Given the description of an element on the screen output the (x, y) to click on. 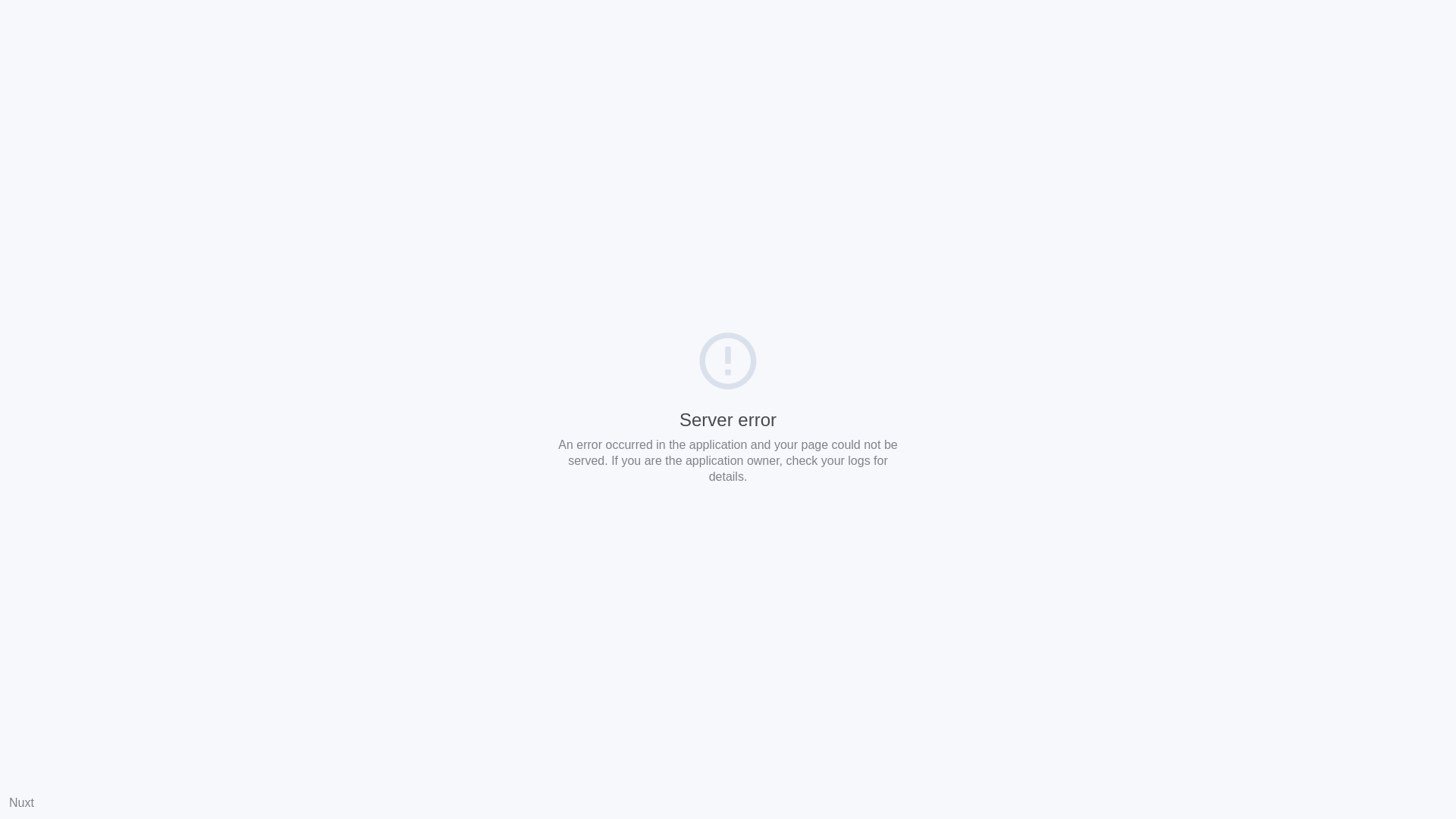
Nuxt Element type: text (21, 802)
